Given the description of an element on the screen output the (x, y) to click on. 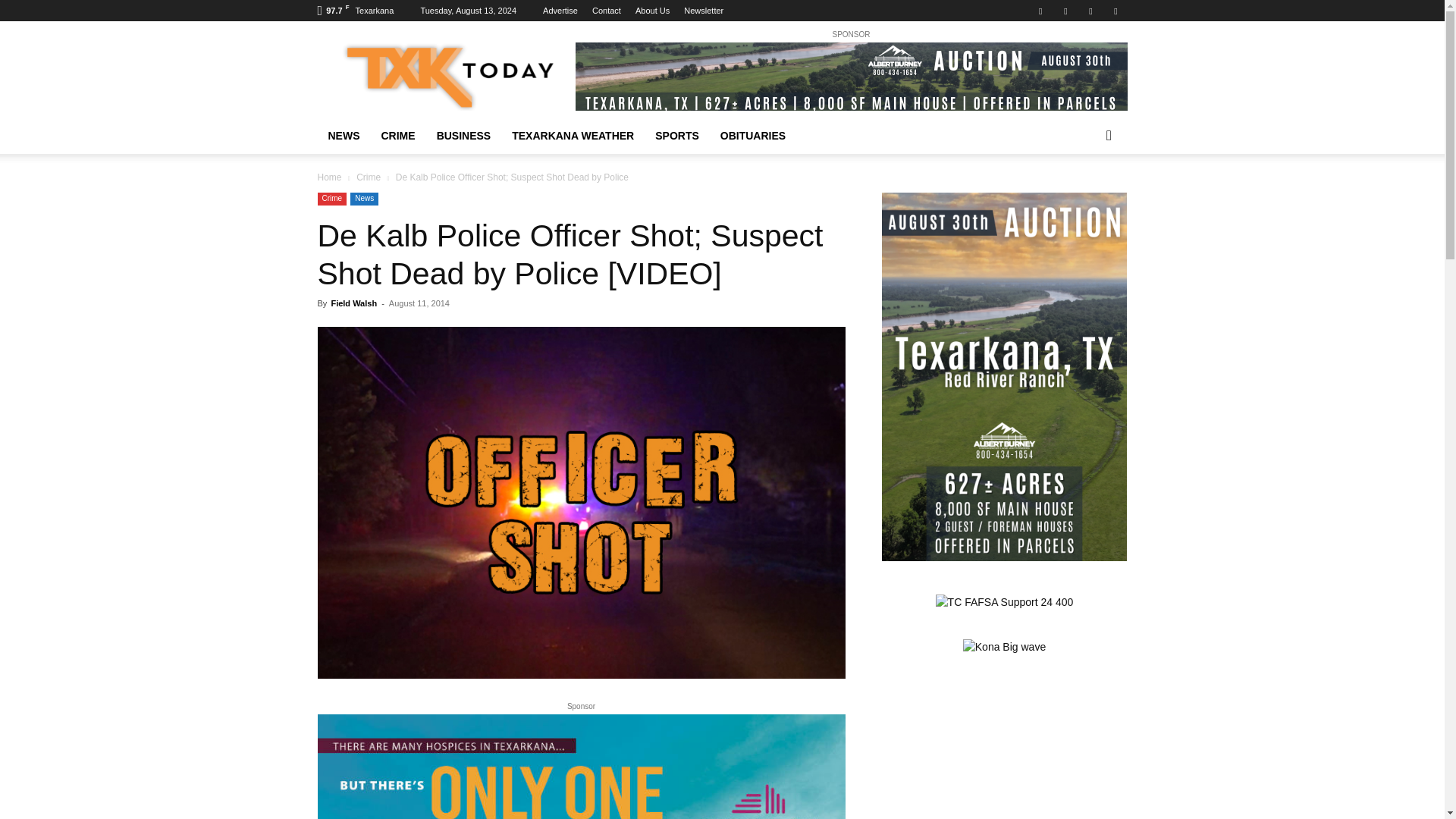
Search (1085, 196)
About Us (651, 10)
Texarkana News (445, 76)
Home (328, 176)
Youtube (1114, 10)
Contact (606, 10)
Pinterest (1065, 10)
BUSINESS (464, 135)
Newsletter (703, 10)
TEXARKANA WEATHER (572, 135)
